Given the description of an element on the screen output the (x, y) to click on. 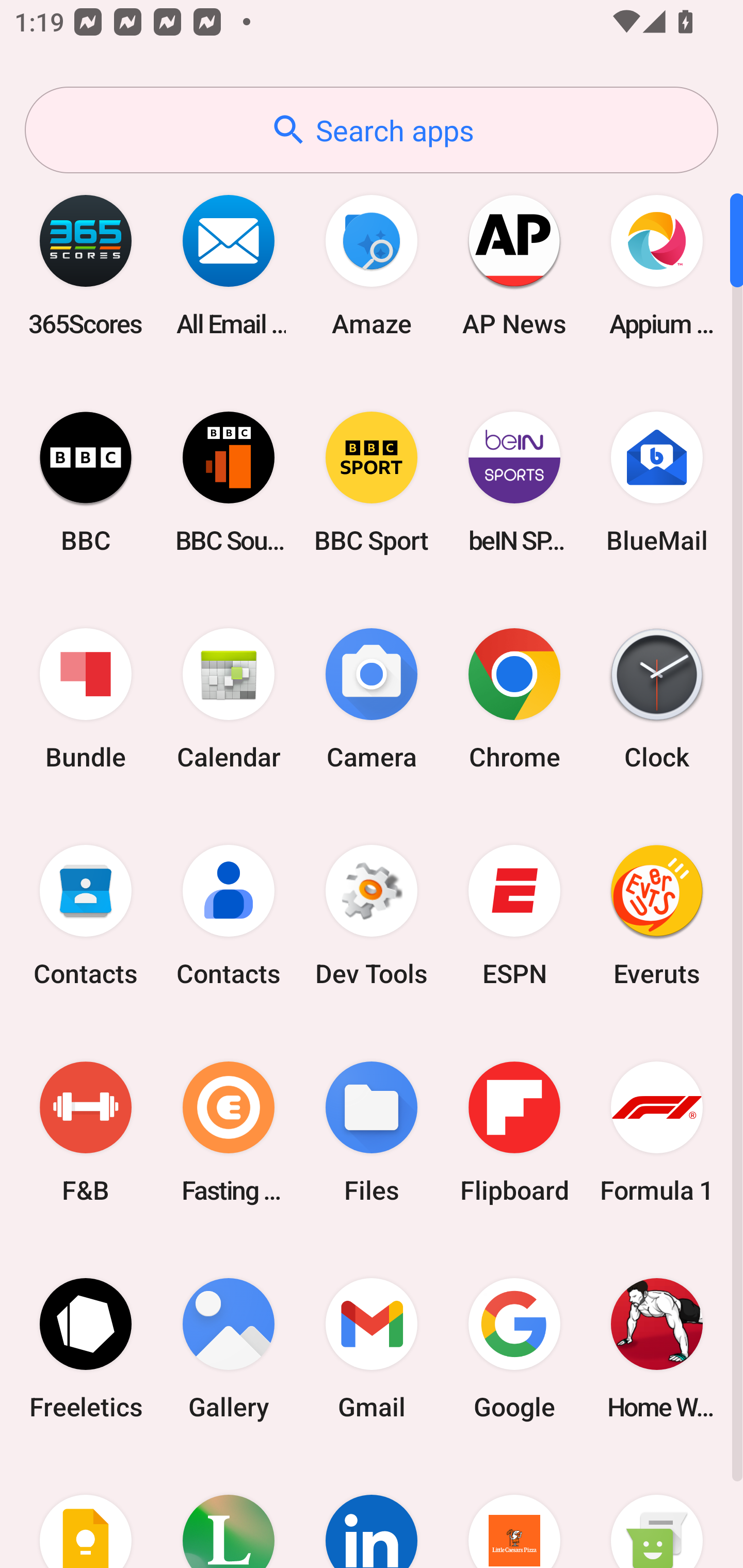
  Search apps (371, 130)
365Scores (85, 264)
All Email Connect (228, 264)
Amaze (371, 264)
AP News (514, 264)
Appium Settings (656, 264)
BBC (85, 482)
BBC Sounds (228, 482)
BBC Sport (371, 482)
beIN SPORTS (514, 482)
BlueMail (656, 482)
Bundle (85, 699)
Calendar (228, 699)
Camera (371, 699)
Chrome (514, 699)
Clock (656, 699)
Contacts (85, 915)
Contacts (228, 915)
Dev Tools (371, 915)
ESPN (514, 915)
Everuts (656, 915)
F&B (85, 1131)
Fasting Coach (228, 1131)
Files (371, 1131)
Flipboard (514, 1131)
Formula 1 (656, 1131)
Freeletics (85, 1348)
Gallery (228, 1348)
Gmail (371, 1348)
Google (514, 1348)
Home Workout (656, 1348)
Keep Notes (85, 1512)
Lifesum (228, 1512)
LinkedIn (371, 1512)
Little Caesars Pizza (514, 1512)
Messaging (656, 1512)
